Given the description of an element on the screen output the (x, y) to click on. 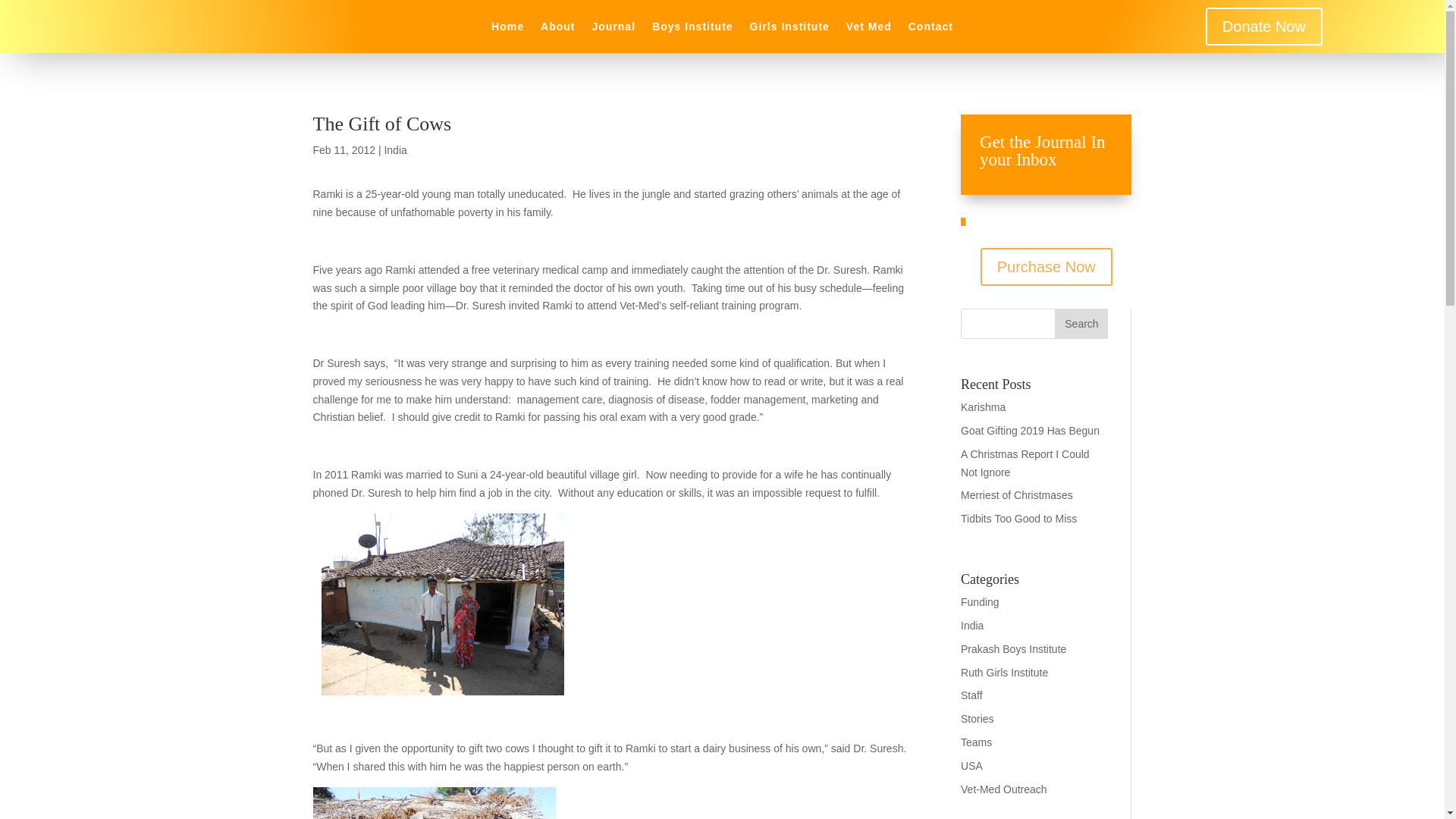
Ruth Girls Institute (1004, 672)
Purchase Now (1045, 266)
Journal (612, 29)
Girls Institute (789, 29)
Stories (977, 718)
Boys Institute (692, 29)
Staff (971, 695)
A Christmas Report I Could Not Ignore (1024, 462)
Merriest of Christmases (1016, 494)
Prakash Boys Institute (1012, 648)
USA (971, 766)
About (557, 29)
Funding (979, 602)
Tidbits Too Good to Miss (1018, 518)
Teams (975, 742)
